Given the description of an element on the screen output the (x, y) to click on. 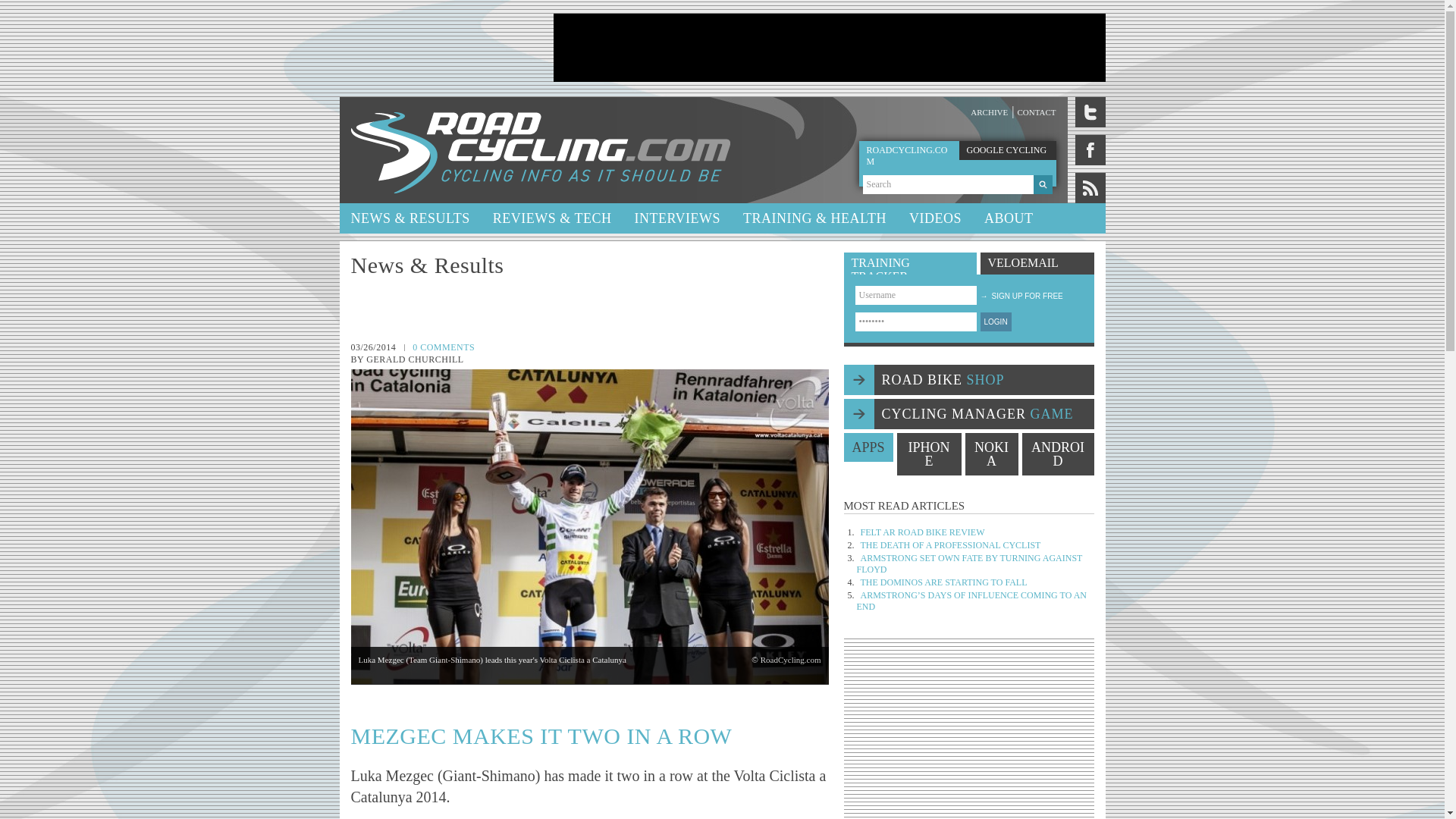
CYCLING MANAGER GAME (968, 413)
ABOUT (1008, 218)
Advertisement (969, 733)
CONTACT (1035, 112)
Advertisement (829, 47)
VIDEOS (935, 218)
ARCHIVE (989, 112)
RoadCycling.com - Cycling info as it should be (540, 150)
ROAD BIKE SHOP (968, 379)
ANDROID (1058, 454)
NOKIA (990, 454)
Username (916, 294)
IPHONE (928, 454)
Password (916, 321)
LOGIN (994, 321)
